Given the description of an element on the screen output the (x, y) to click on. 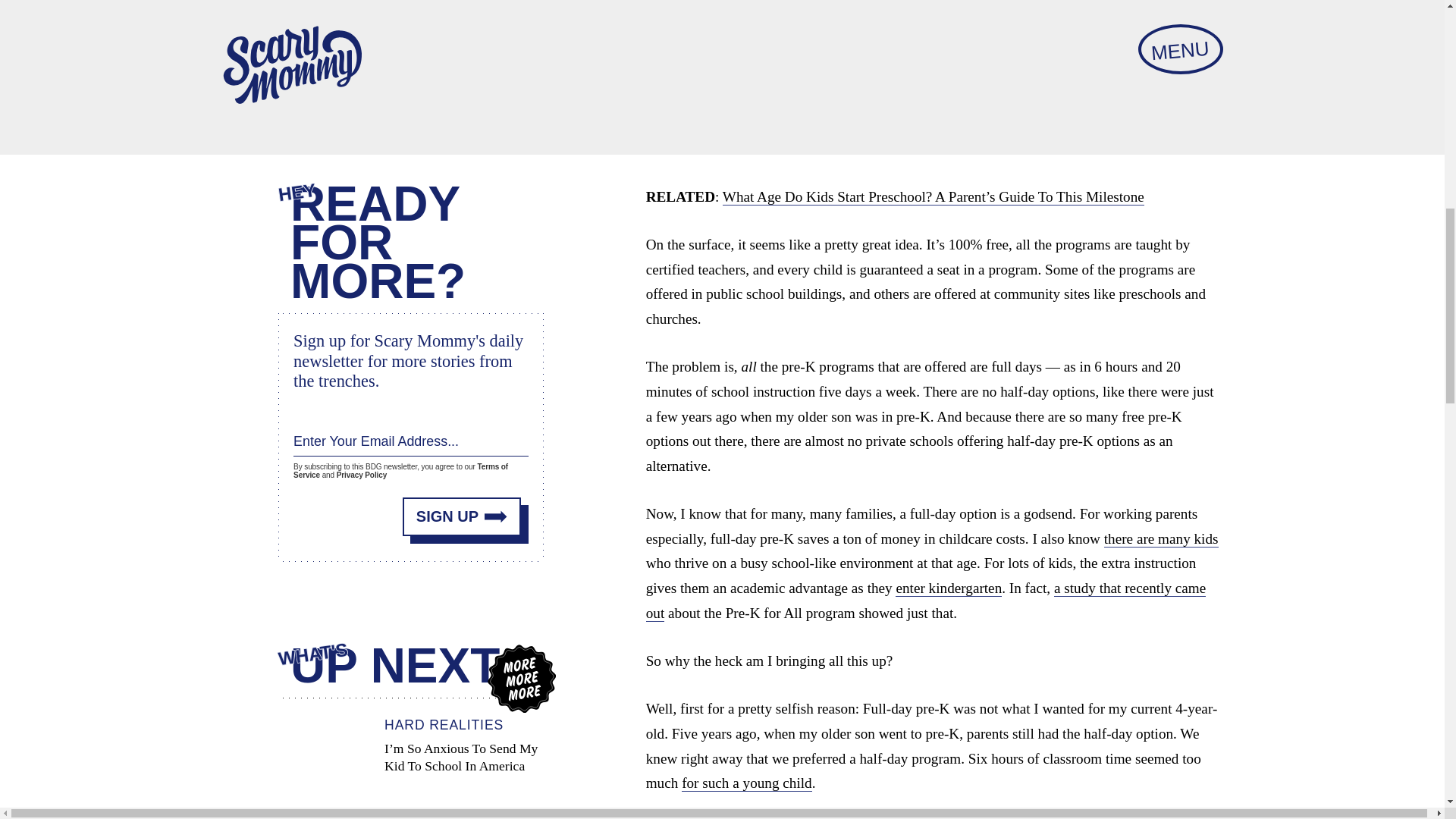
enter kindergarten (948, 588)
SIGN UP (462, 516)
a study that recently came out (926, 600)
Terms of Service (401, 470)
there are many kids (1160, 538)
Privacy Policy (361, 474)
for such a young child (746, 782)
